Given the description of an element on the screen output the (x, y) to click on. 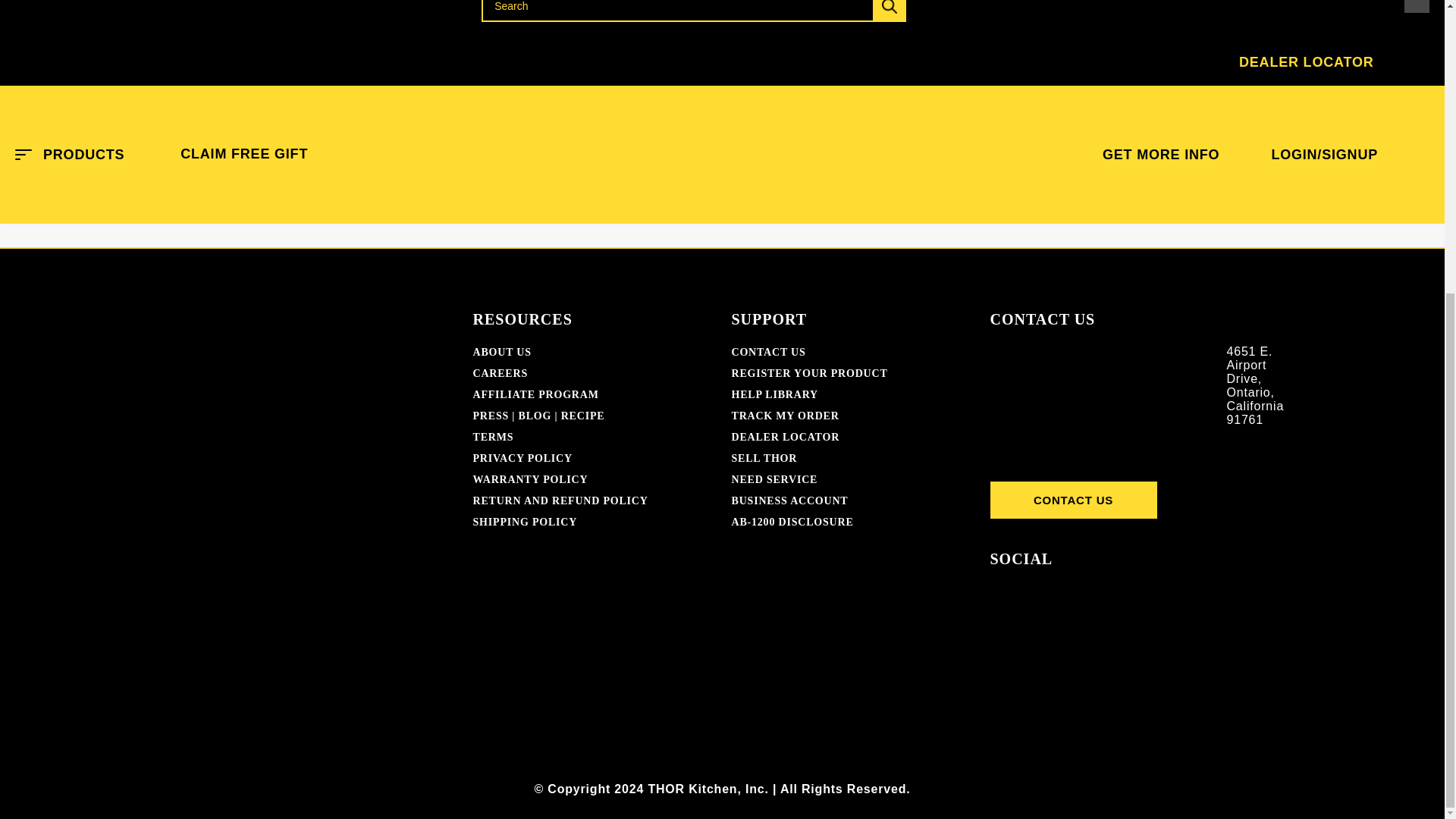
Search (854, 149)
